Given the description of an element on the screen output the (x, y) to click on. 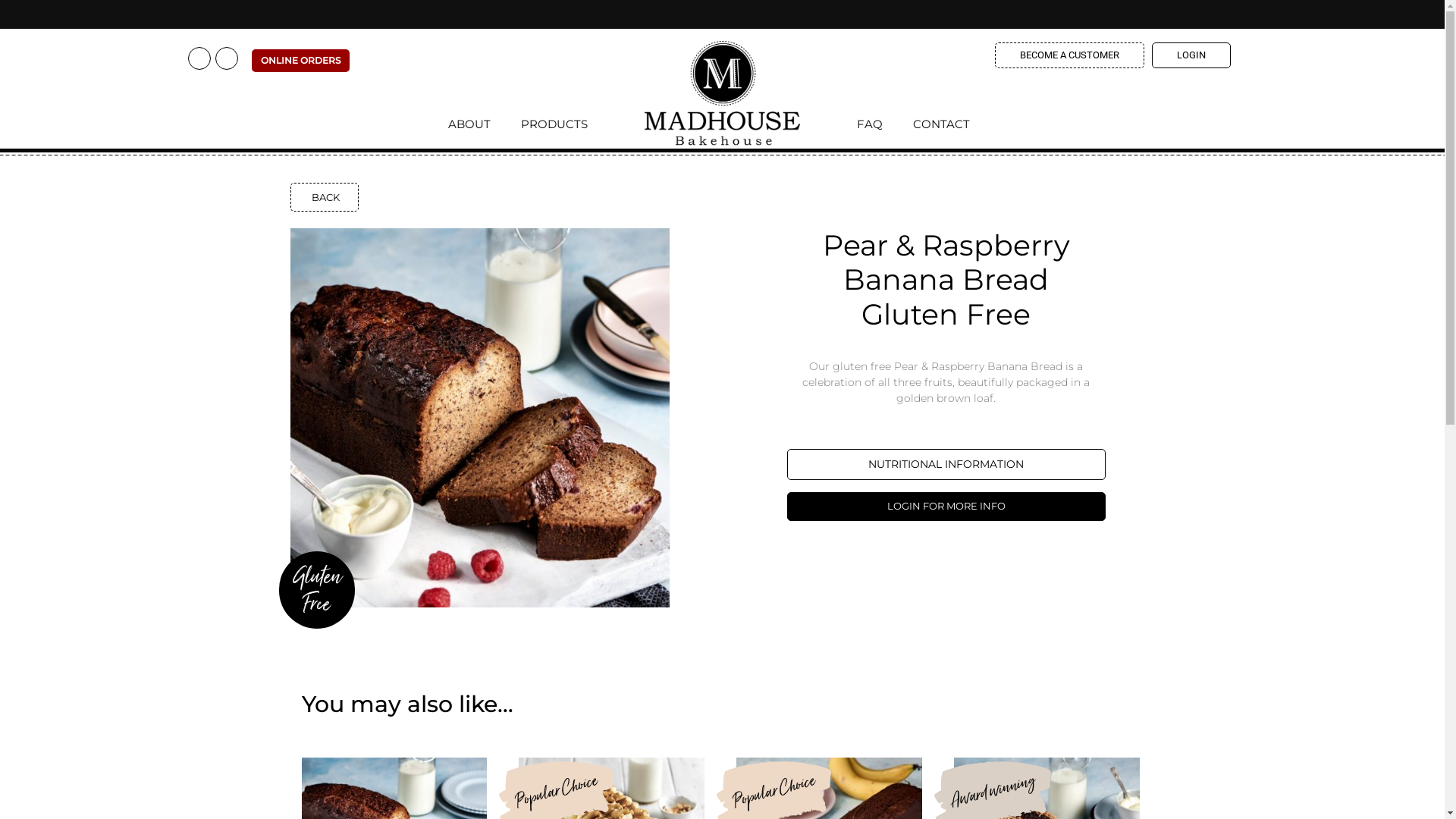
ONLINE ORDERS Element type: text (300, 59)
BECOME A CUSTOMER Element type: text (1069, 55)
BACK Element type: text (323, 196)
breakfast-pearandraspberrybread- Gluten05 Element type: hover (478, 416)
LOGIN FOR MORE INFO Element type: text (946, 506)
PRODUCTS Element type: text (546, 128)
LOGIN Element type: text (1190, 55)
CONTACT Element type: text (941, 128)
FAQ Element type: text (876, 128)
NUTRITIONAL INFORMATION Element type: text (945, 464)
ABOUT Element type: text (476, 128)
